Given the description of an element on the screen output the (x, y) to click on. 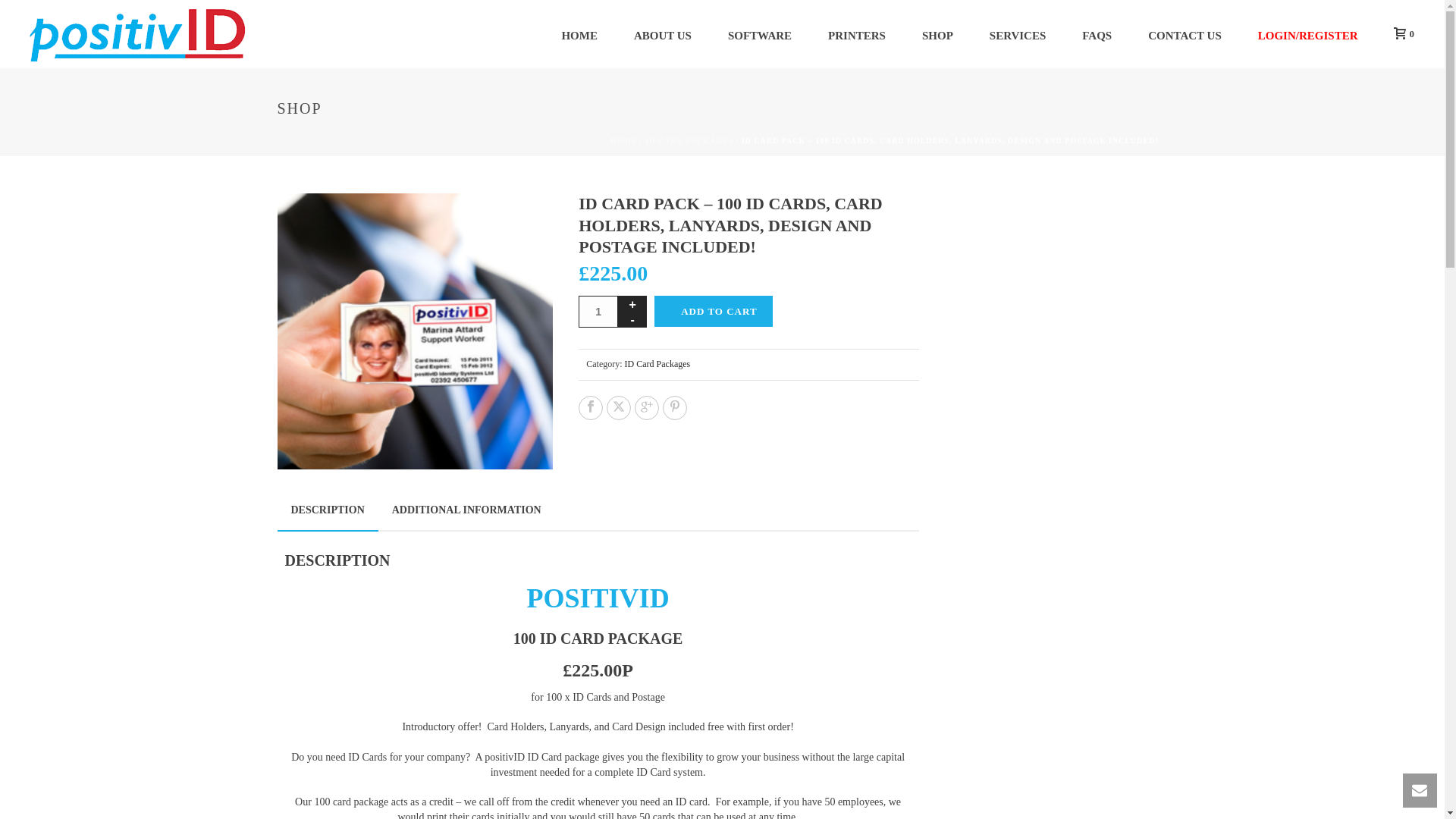
web-card-product-image (415, 331)
CONTACT US (1184, 33)
HOME (579, 33)
ID Card Packages (657, 363)
SERVICES (1017, 33)
SHOP (937, 33)
- (631, 319)
PRINTERS (856, 33)
CONTACT US (1184, 33)
FAQS (1096, 33)
SOFTWARE (759, 33)
ABOUT US (662, 33)
ABOUT US (662, 33)
HOME (579, 33)
1 (597, 311)
